Given the description of an element on the screen output the (x, y) to click on. 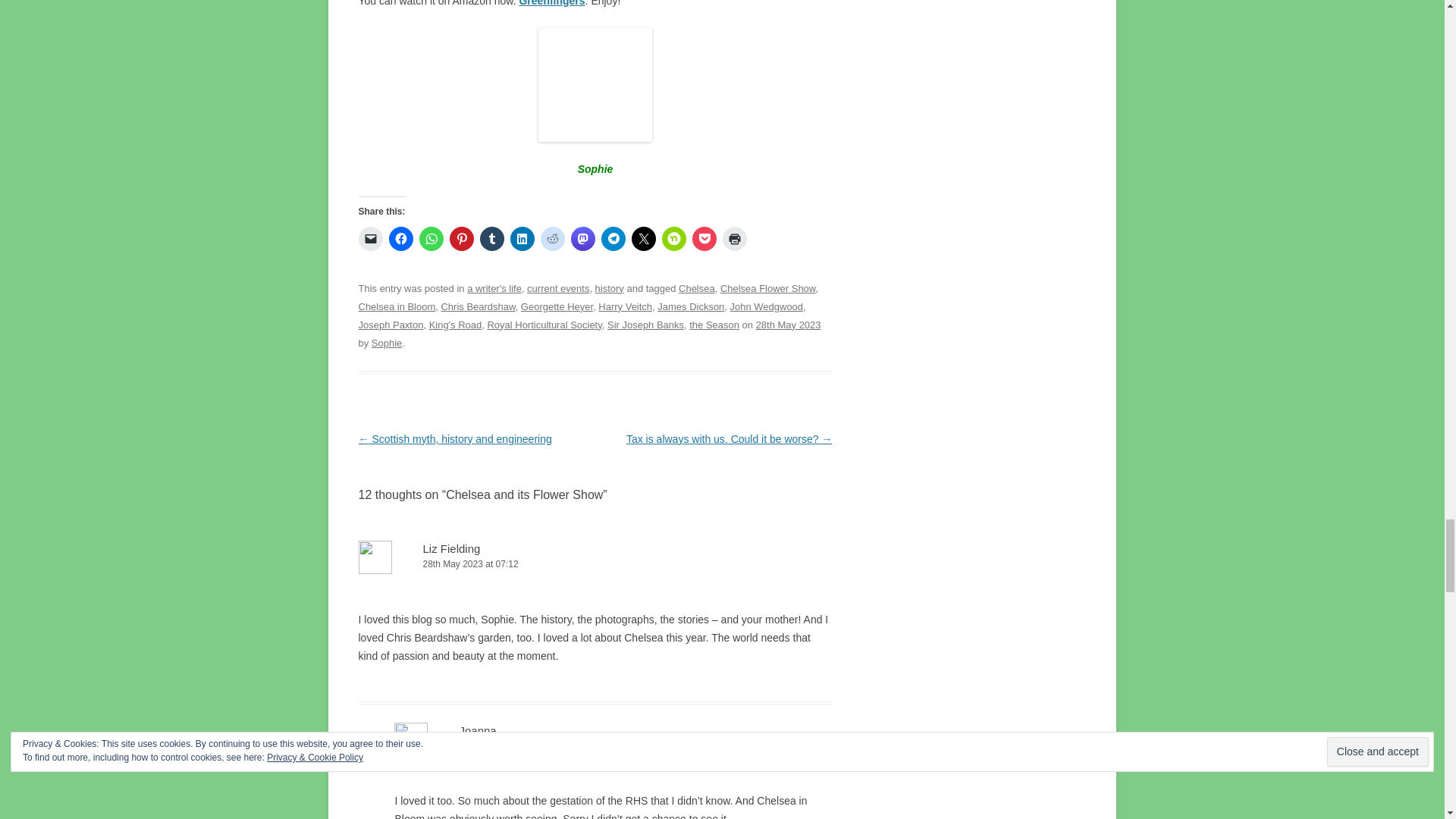
Click to email a link to a friend (369, 238)
Click to share on Reddit (552, 238)
Click to share on Mastodon (582, 238)
Click to share on Nextdoor (673, 238)
Click to share on Pinterest (460, 238)
Click to share on WhatsApp (430, 238)
Click to share on Telegram (611, 238)
Click to share on Tumblr (491, 238)
Click to print (733, 238)
Click to share on Pocket (703, 238)
